Given the description of an element on the screen output the (x, y) to click on. 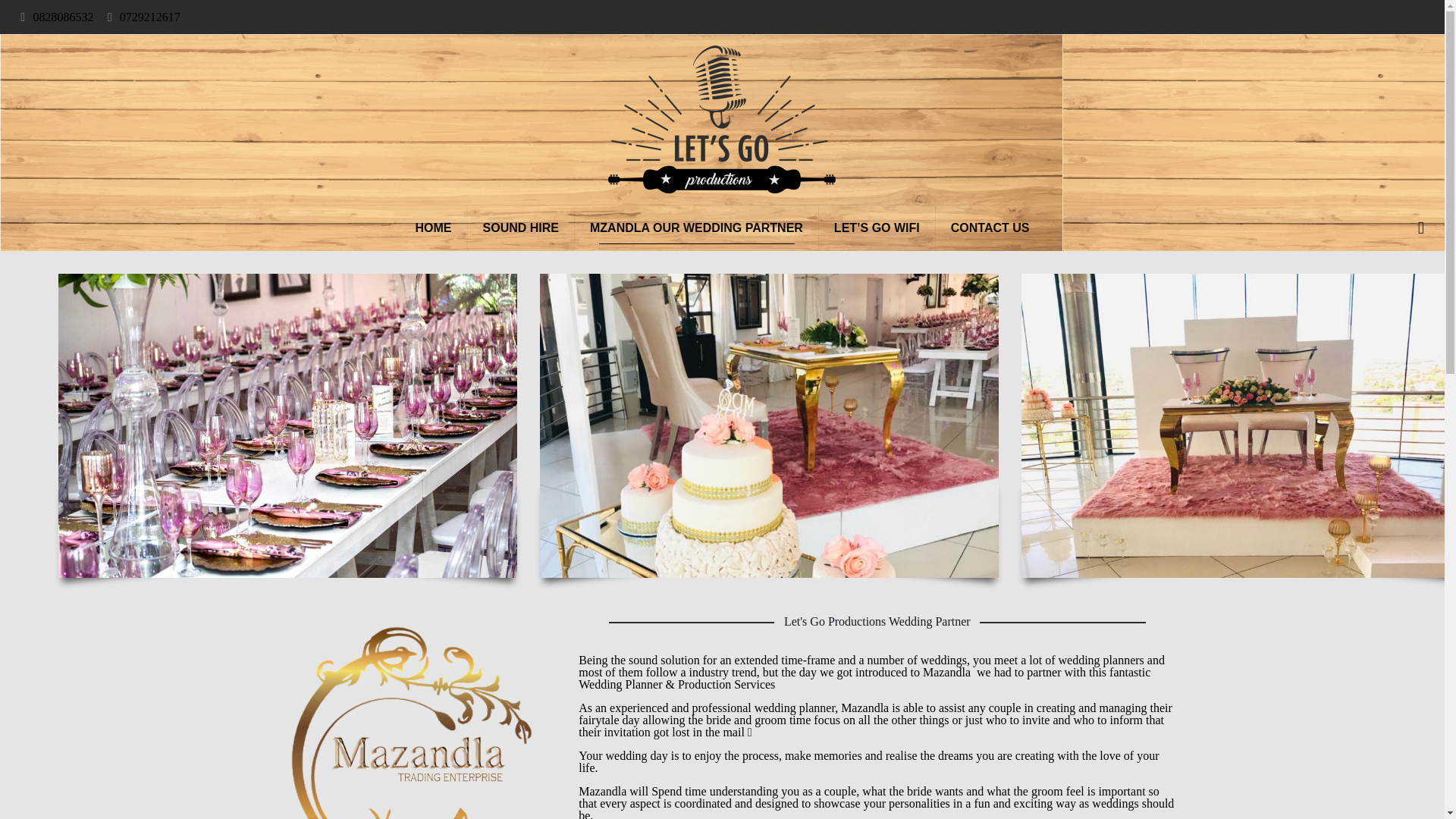
SOUND HIRE (521, 227)
CONTACT US (990, 227)
HOME (433, 227)
0729212617 (149, 16)
0828086532 (62, 16)
Let's Go Productions (721, 119)
MZANDLA OUR WEDDING PARTNER (696, 227)
